Given the description of an element on the screen output the (x, y) to click on. 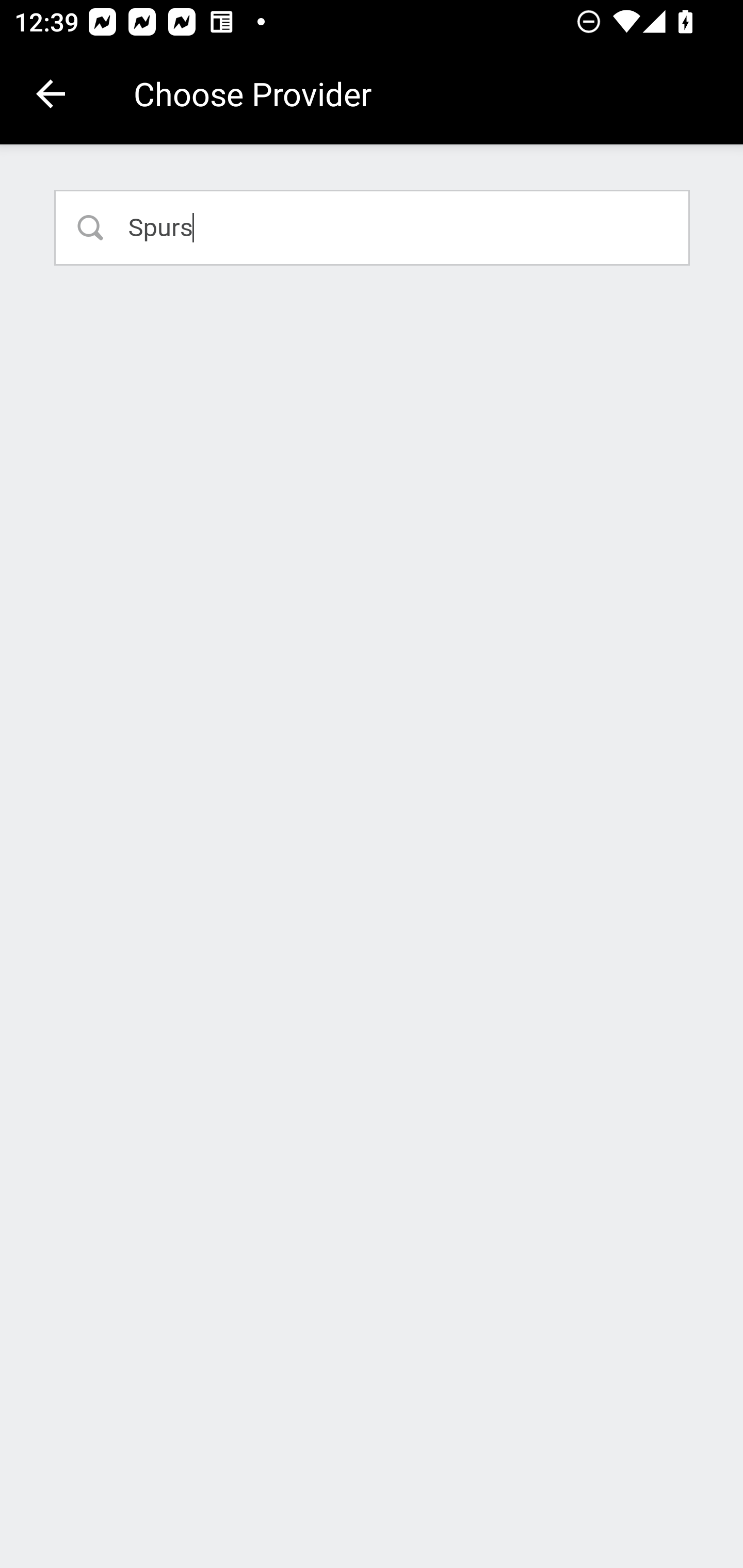
Navigate up (50, 93)
Spurs (372, 227)
